Given the description of an element on the screen output the (x, y) to click on. 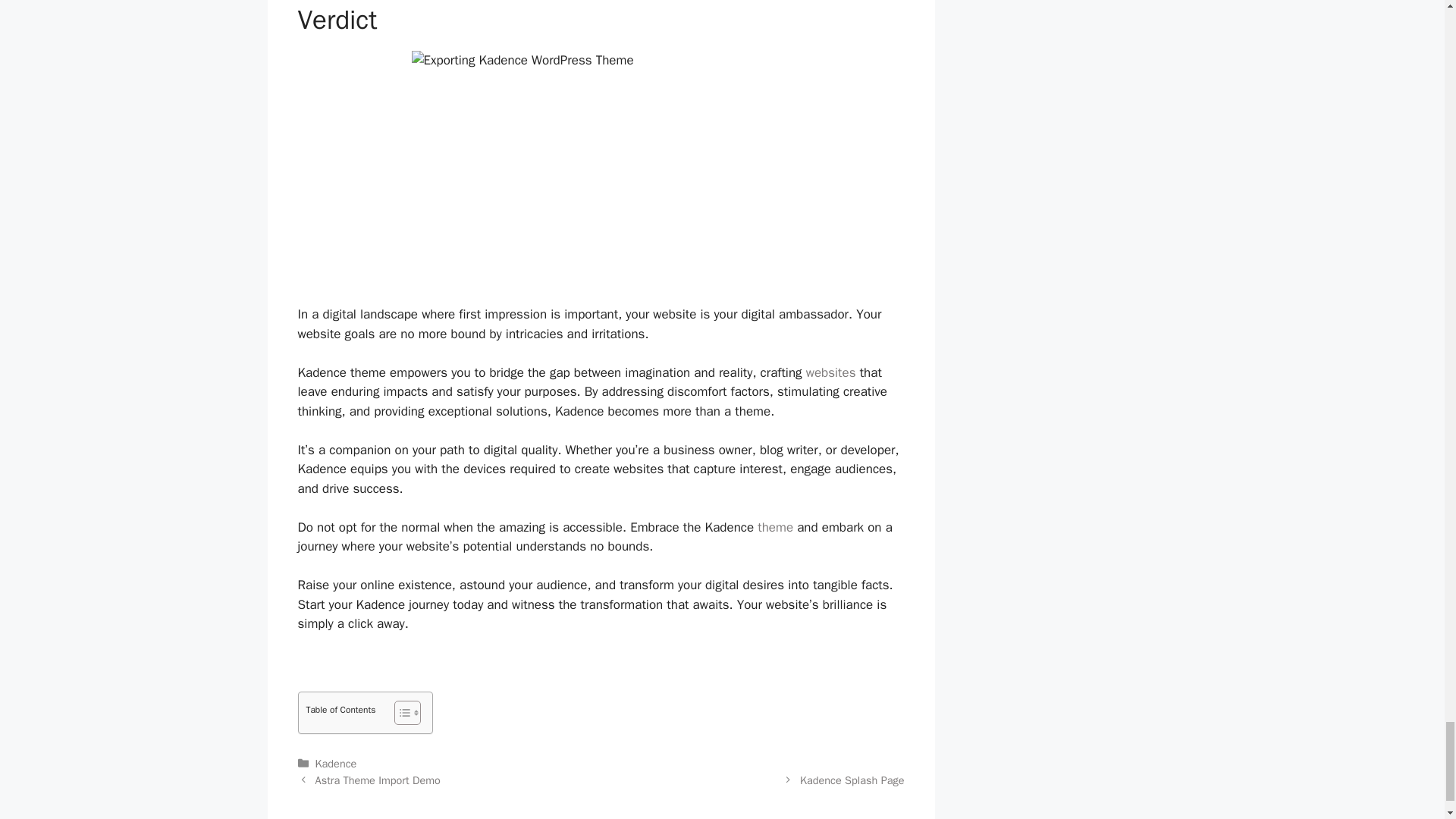
Kadence Splash Page (851, 780)
theme (775, 527)
websites (831, 372)
Astra Theme Import Demo (378, 780)
Kadence (335, 763)
